Given the description of an element on the screen output the (x, y) to click on. 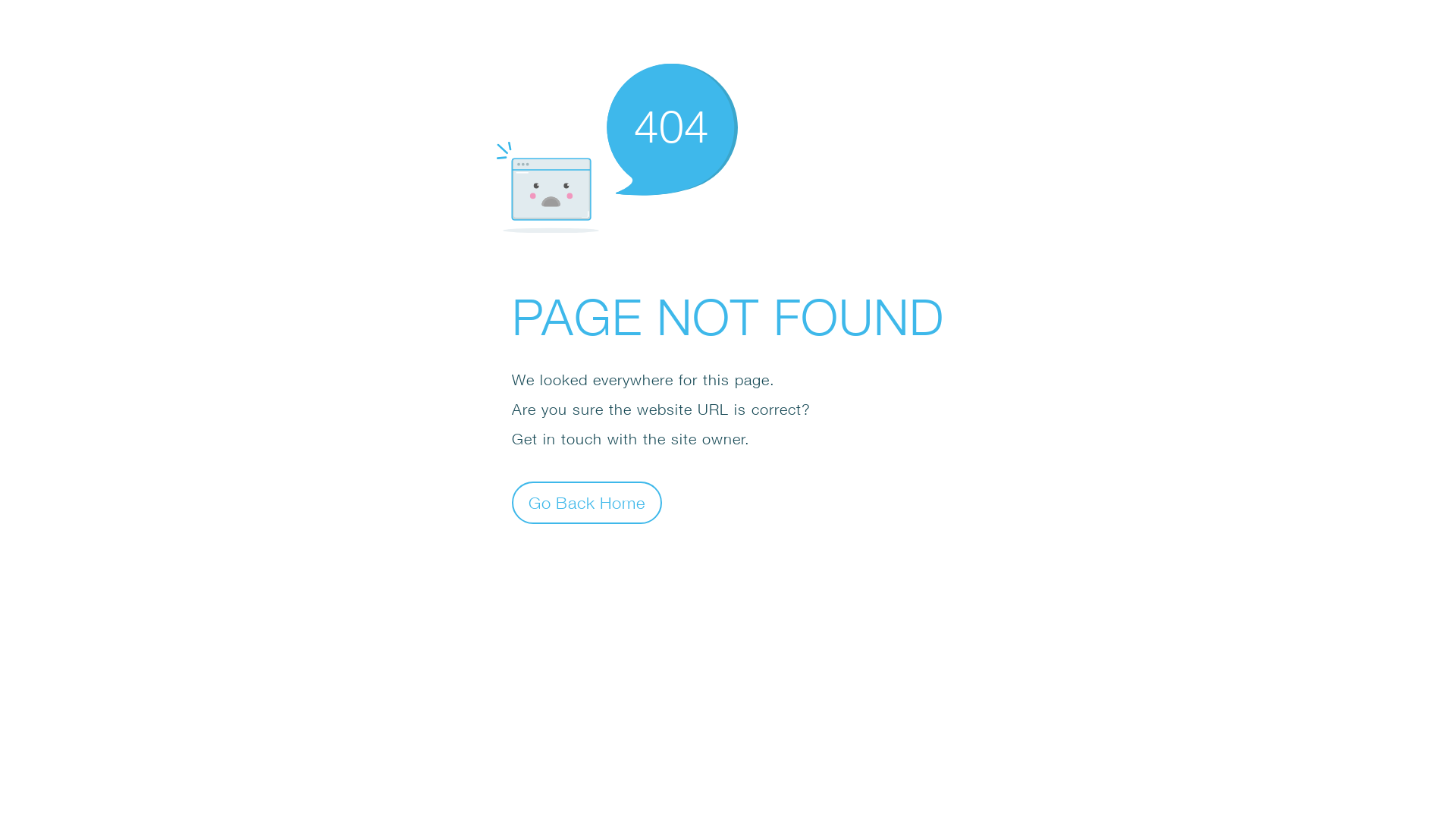
Go Back Home Element type: text (586, 502)
